Given the description of an element on the screen output the (x, y) to click on. 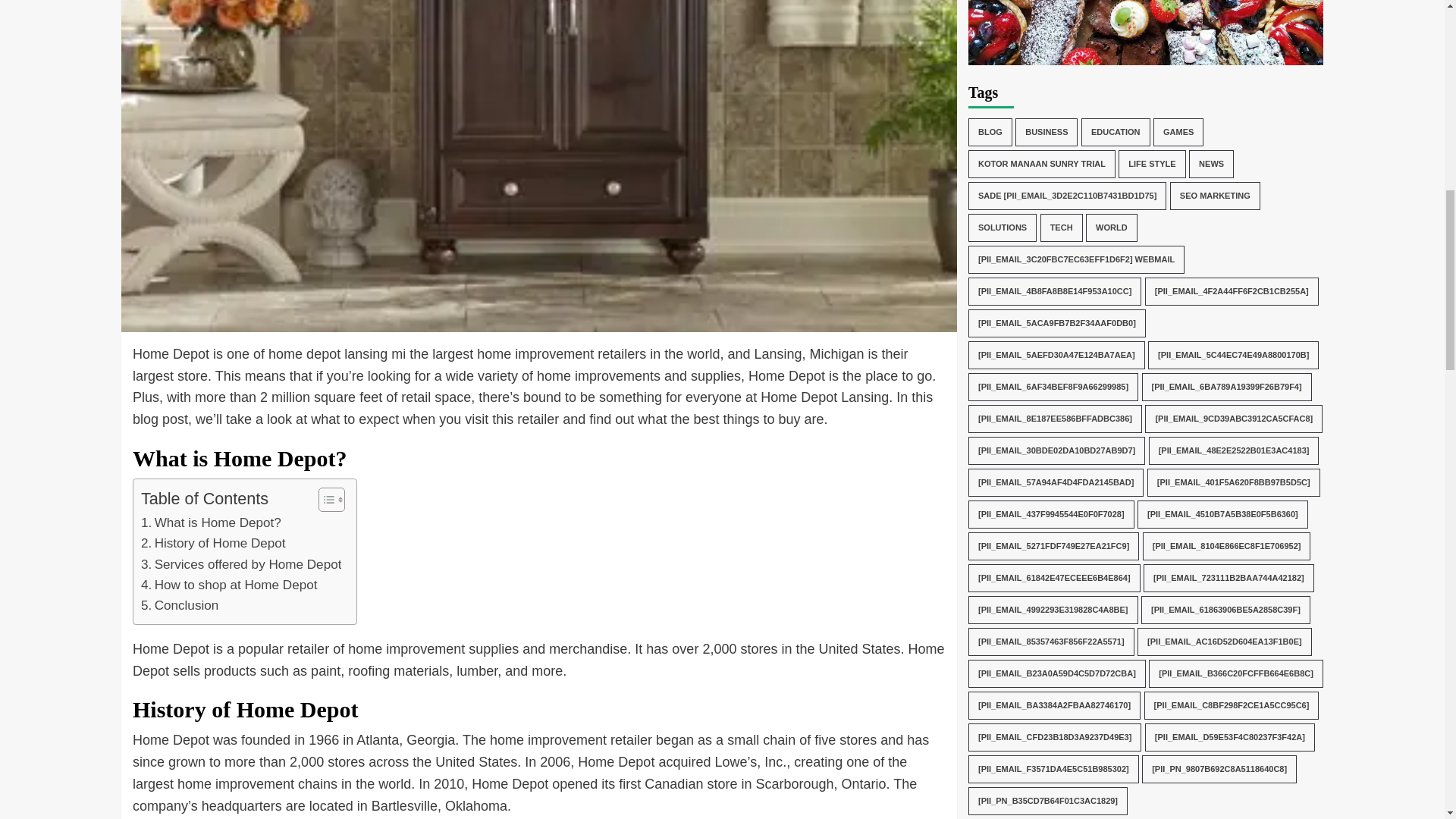
History of Home Depot (213, 543)
What is Home Depot? (211, 522)
Conclusion (179, 605)
History of Home Depot (213, 543)
How to shop at Home Depot (229, 584)
How to shop at Home Depot (229, 584)
Services offered by Home Depot (240, 564)
Services offered by Home Depot (240, 564)
What is Home Depot? (211, 522)
Conclusion (179, 605)
